Given the description of an element on the screen output the (x, y) to click on. 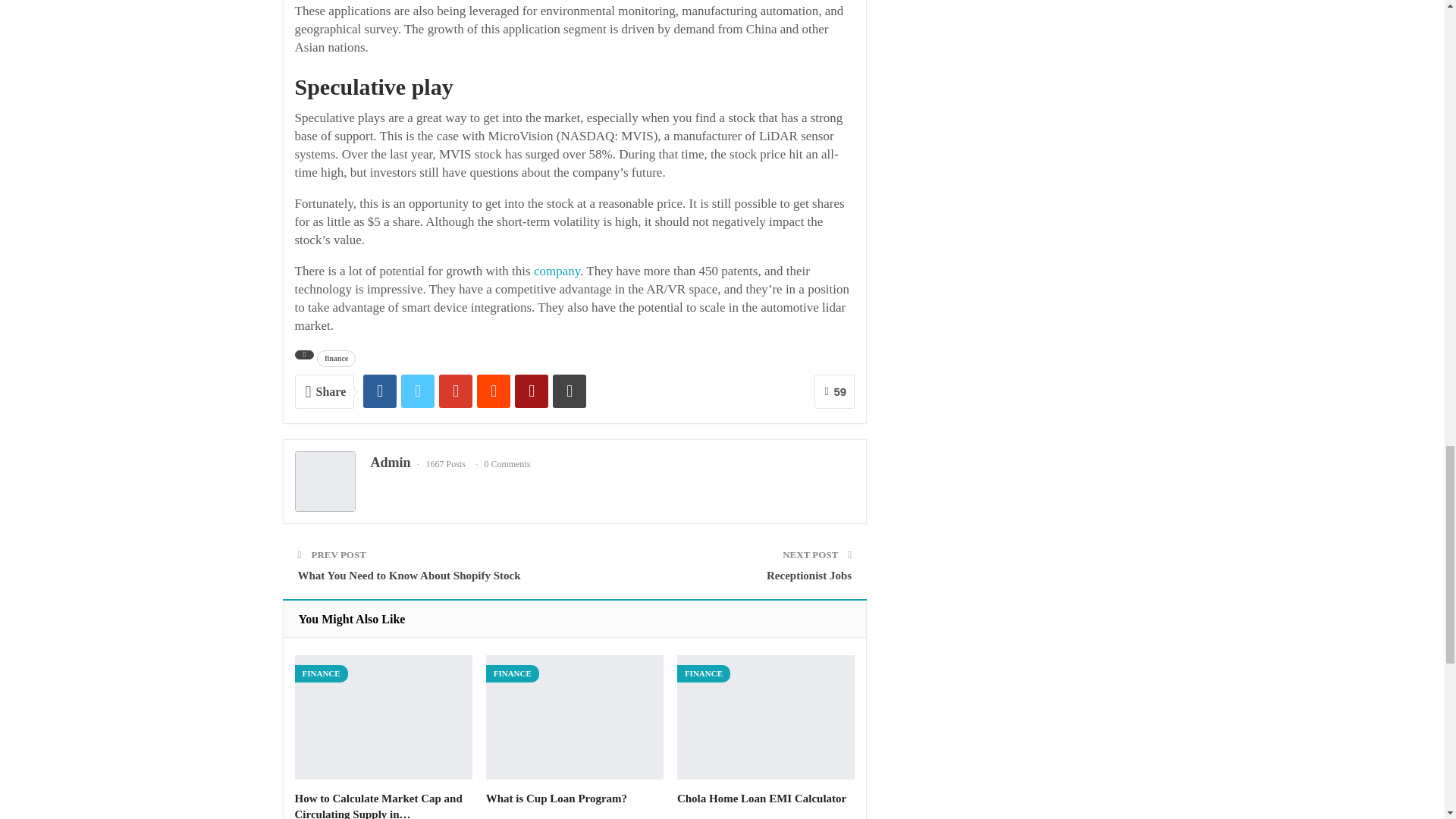
What is Cup Loan Program? (574, 717)
What is Cup Loan Program? (556, 798)
